Given the description of an element on the screen output the (x, y) to click on. 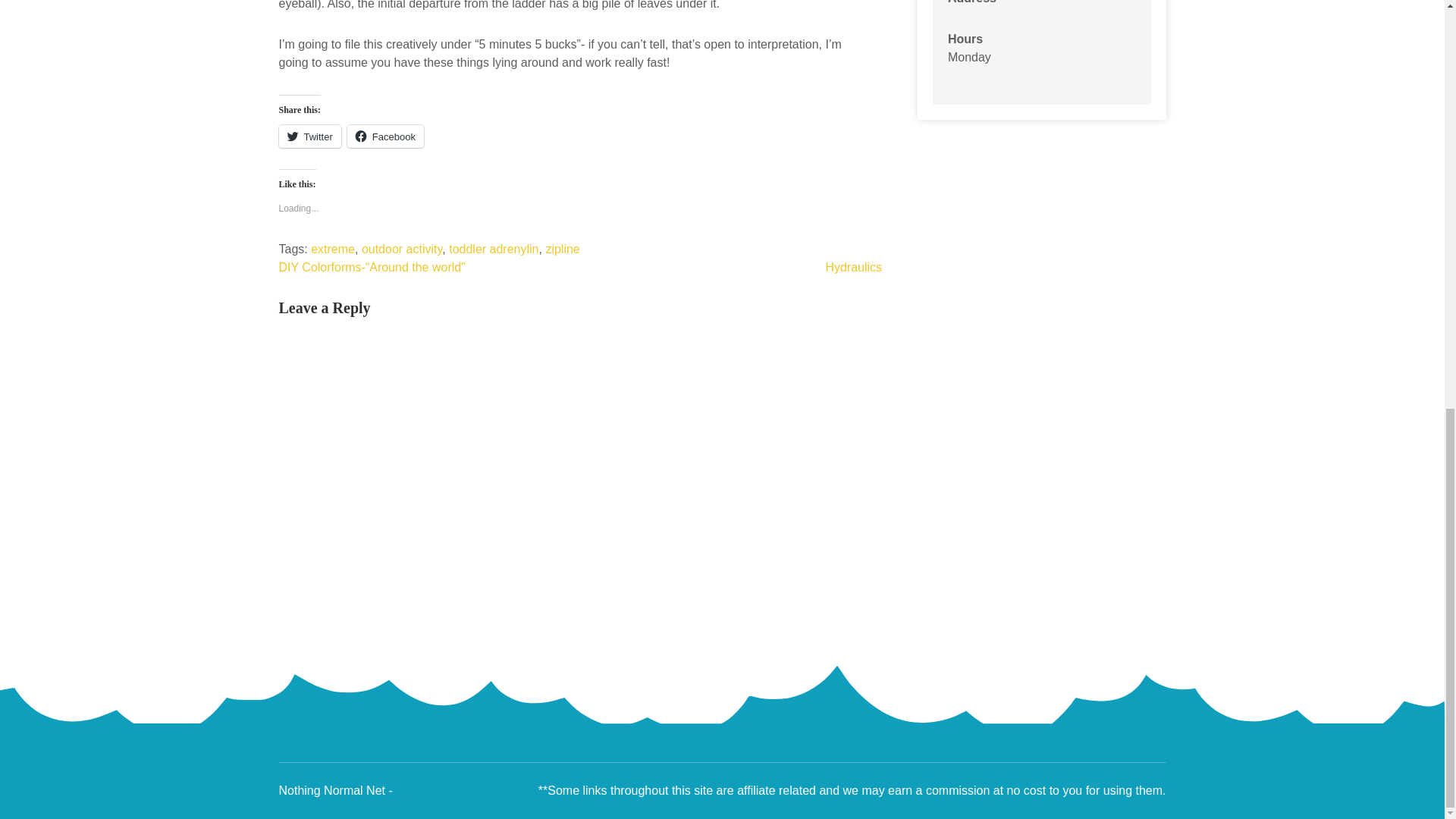
toddler adrenylin (493, 248)
Facebook (385, 136)
outdoor activity (401, 248)
Hydraulics (853, 267)
extreme (333, 248)
Twitter (309, 136)
Click to share on Twitter (309, 136)
zipline (561, 248)
Click to share on Facebook (385, 136)
